Given the description of an element on the screen output the (x, y) to click on. 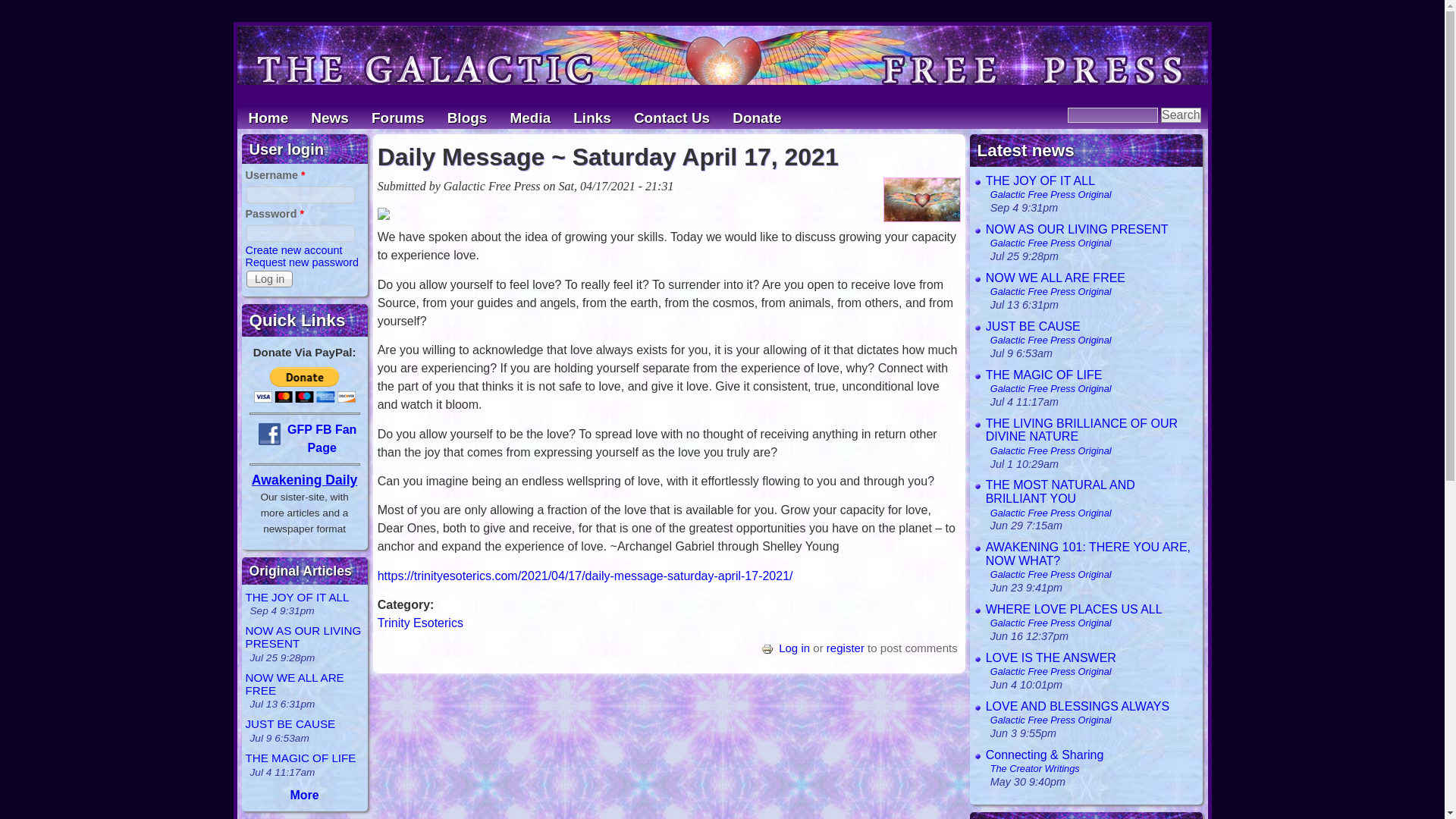
Log in (269, 279)
JUST BE CAUSE (291, 723)
Galactic Free Press Original (1048, 242)
Enter the terms you wish to search for. (1112, 114)
GFP FB Fan Page (321, 438)
Forums (397, 117)
Log in (793, 647)
Visit Our Forum (397, 117)
More (303, 794)
Request new password (302, 262)
